Given the description of an element on the screen output the (x, y) to click on. 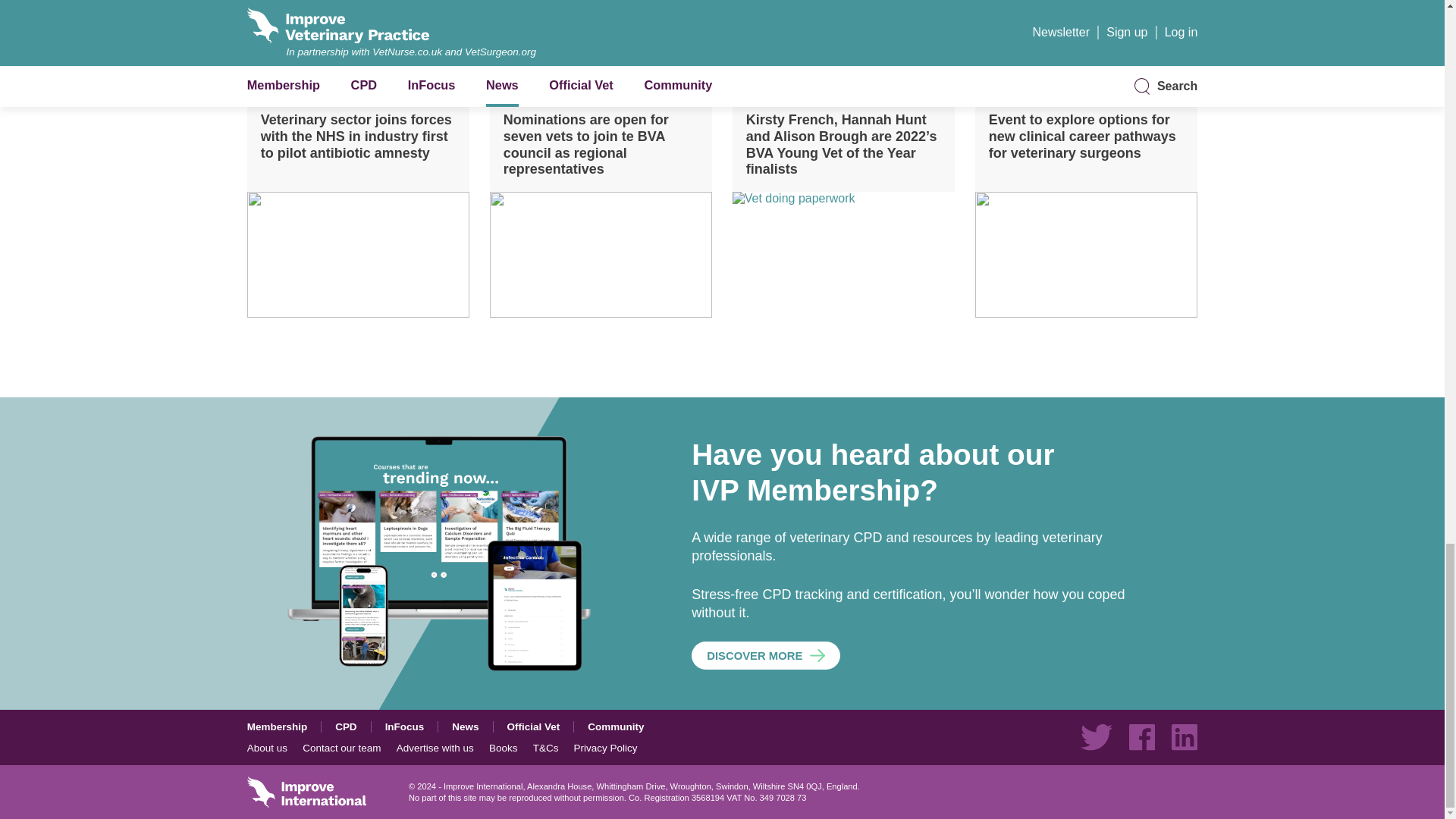
Veterinary Practice on LinkedIn (1184, 736)
Veterinary Practice on Facebook (1141, 736)
Veterinary Practice on Twitter (1096, 736)
